Given the description of an element on the screen output the (x, y) to click on. 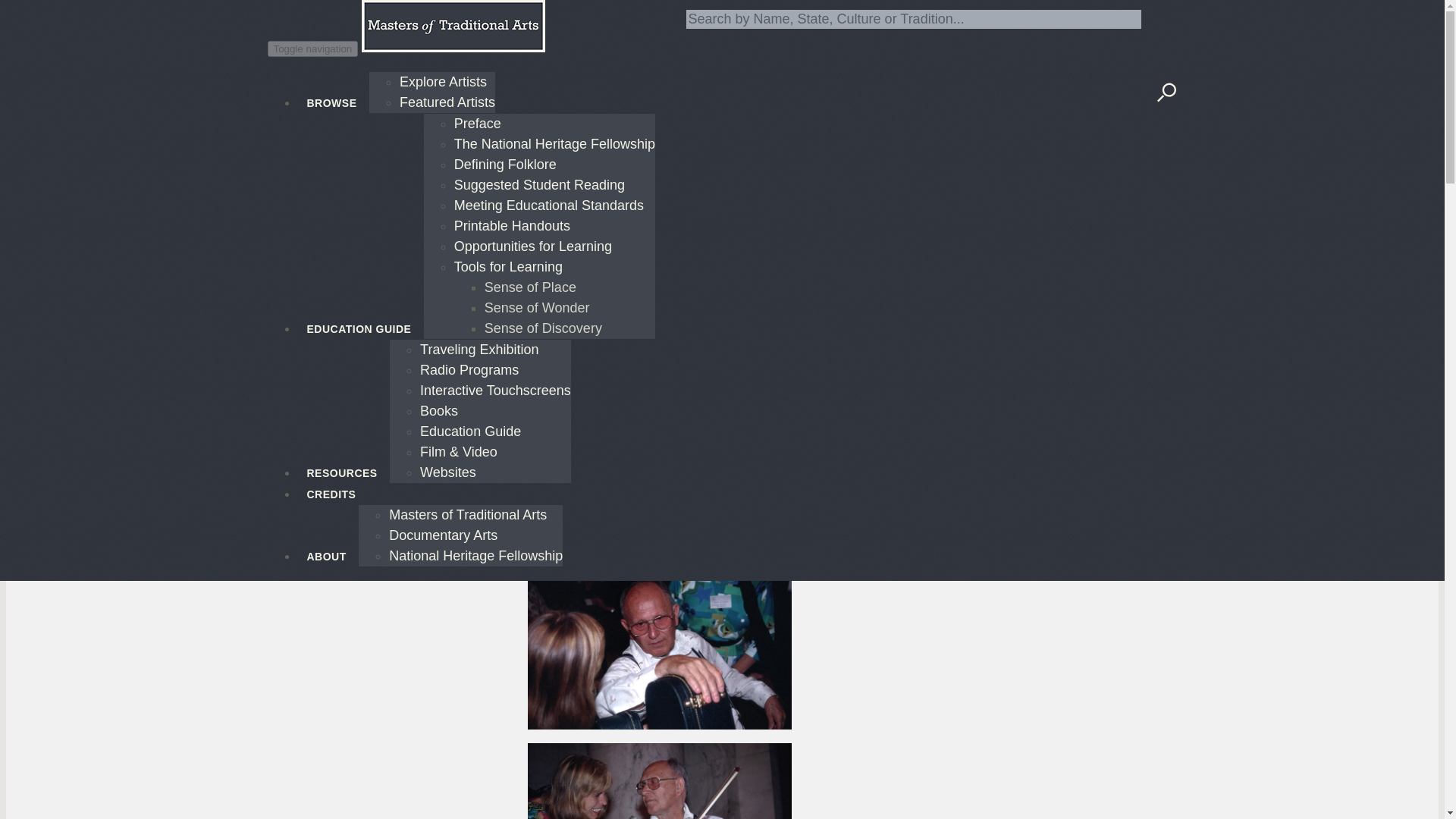
Masters of Traditional Arts (467, 514)
The National Heritage Fellowship (554, 143)
Traveling Exhibition (479, 349)
Books (439, 410)
Radio Programs (469, 369)
Sense of Discovery (543, 328)
EDUCATION GUIDE (360, 319)
ABOUT (327, 547)
Defining Folklore (505, 164)
Interactive Touchscreens (495, 390)
National Heritage Fellowship (475, 555)
RESOURCES (343, 463)
Toggle navigation (312, 48)
Websites (448, 472)
Education Guide (470, 431)
